Given the description of an element on the screen output the (x, y) to click on. 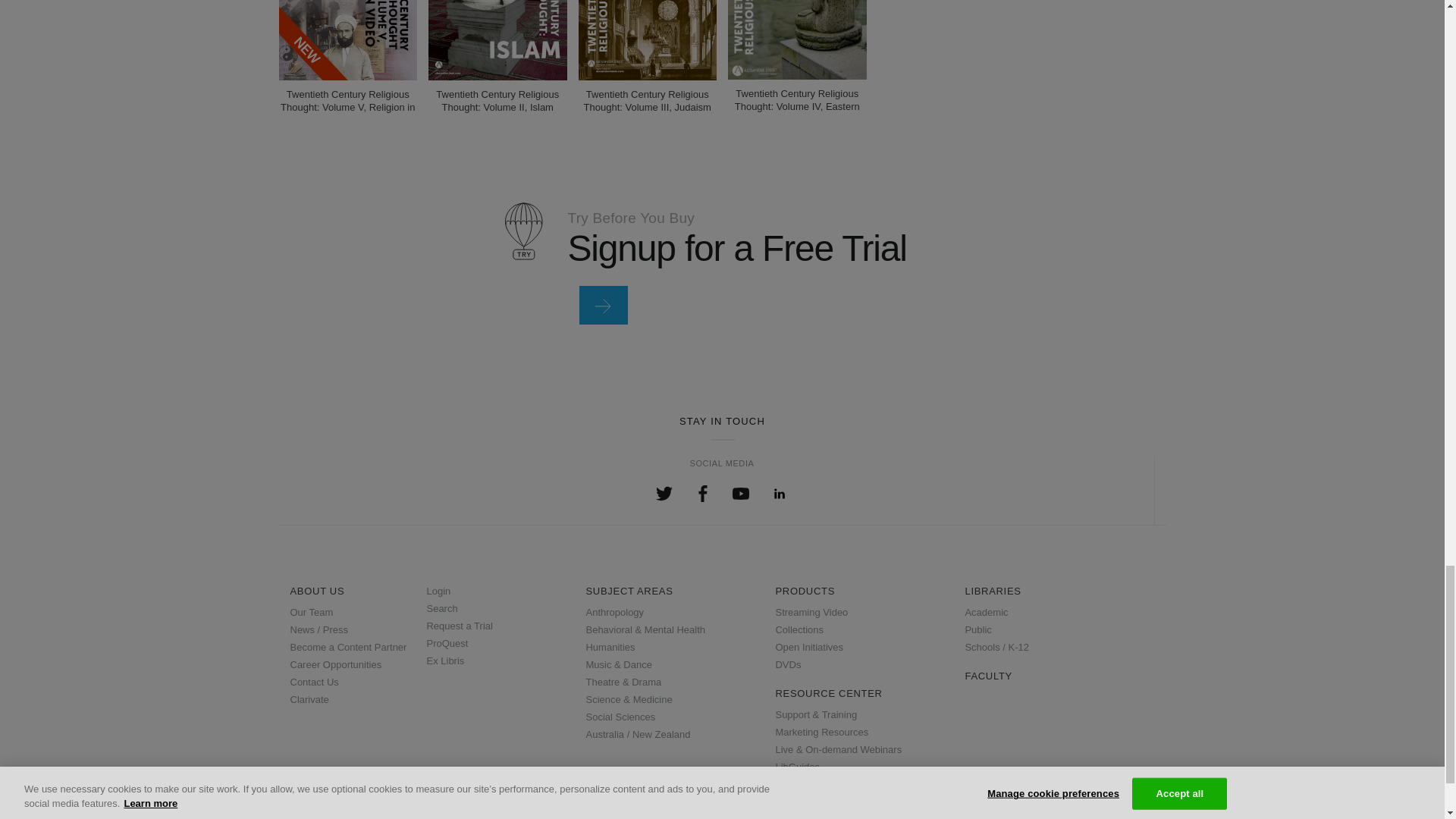
Twentieth Century Religious Thought: Volume III, Judaism (647, 40)
Twentieth Century Religious Thought: Islam (497, 40)
